Given the description of an element on the screen output the (x, y) to click on. 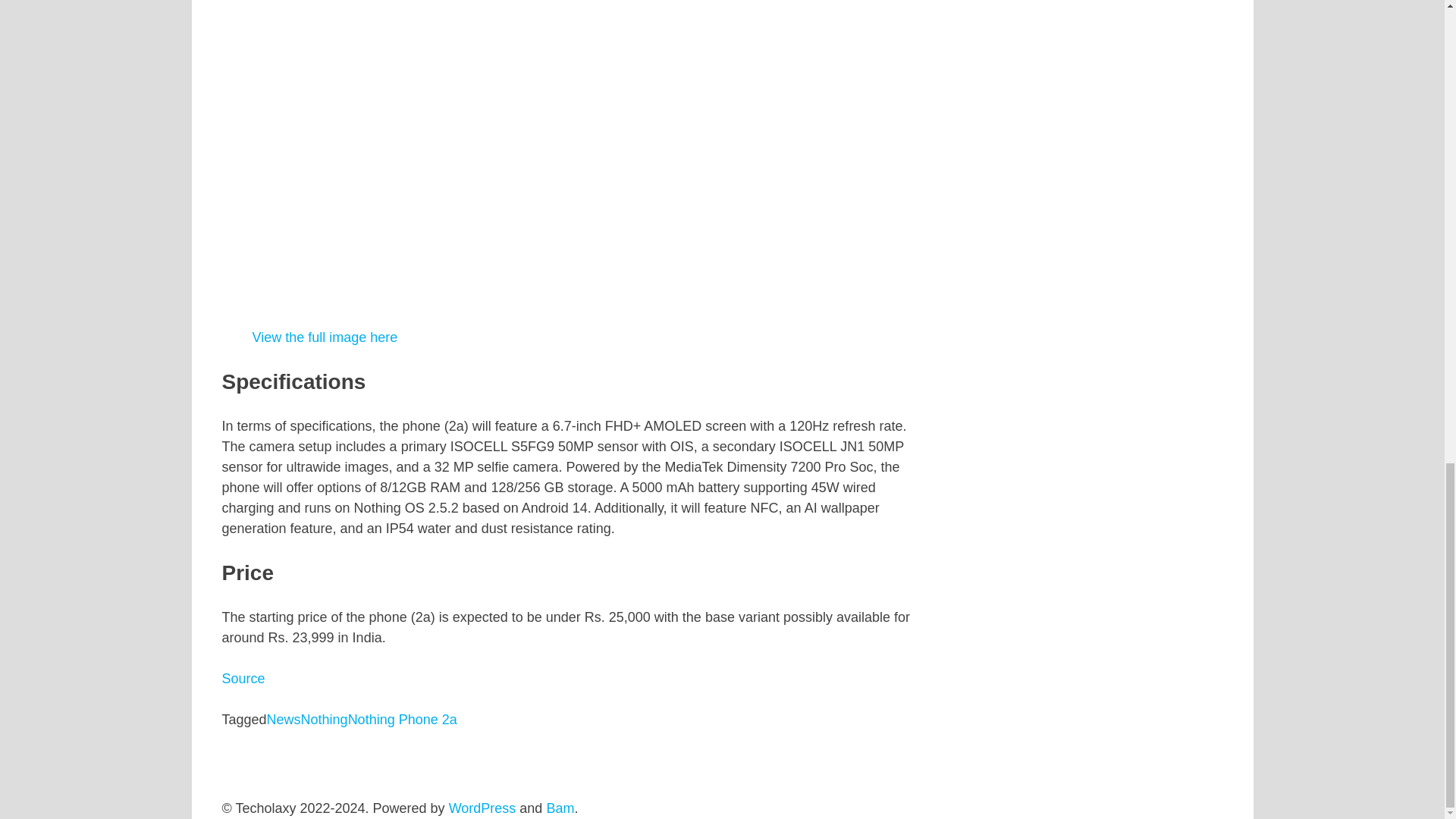
Source (242, 678)
News (283, 719)
View the full image here (324, 337)
Nothing (324, 719)
Nothing Phone 2a (402, 719)
